Given the description of an element on the screen output the (x, y) to click on. 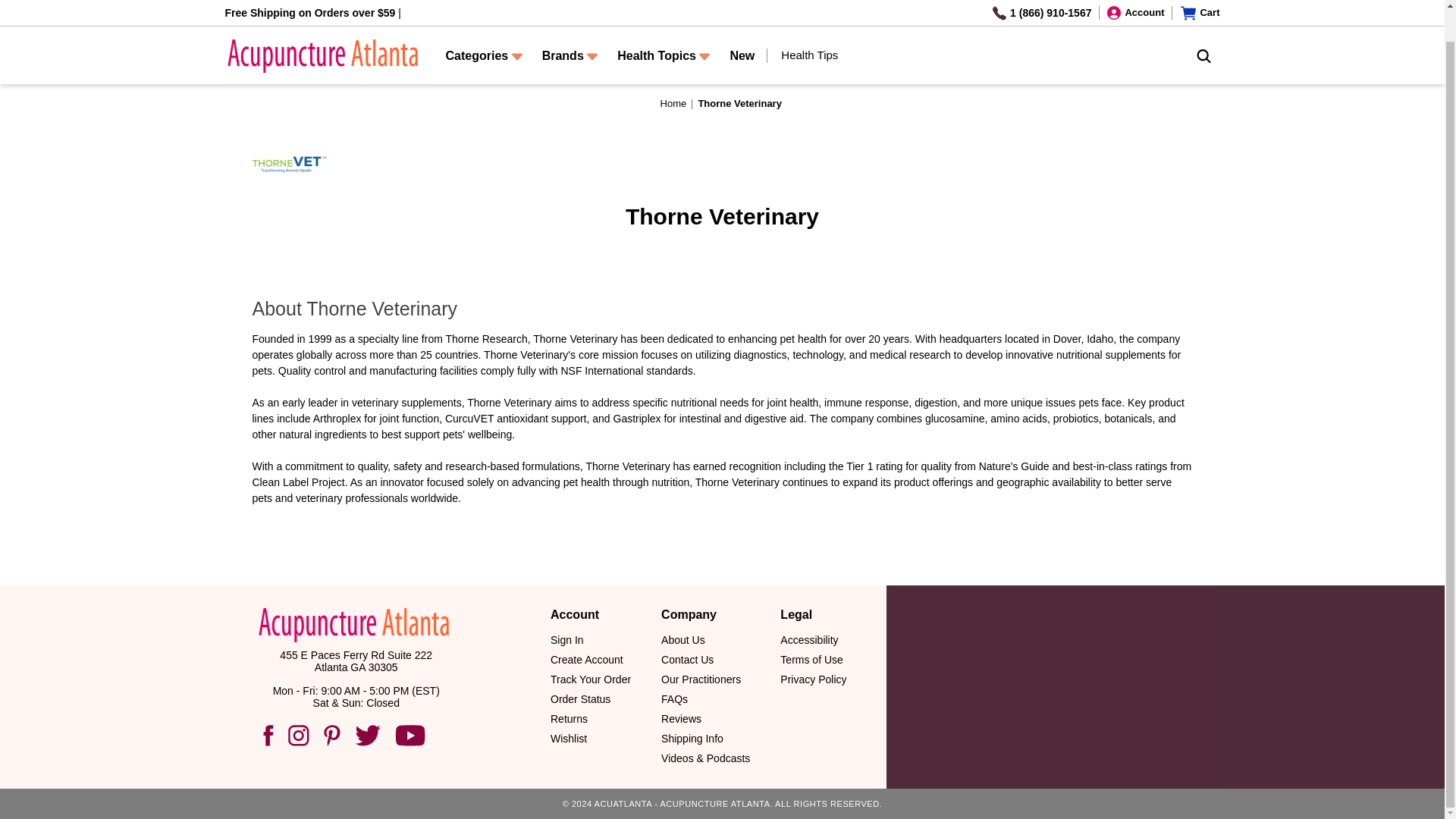
Acupuncture Atlanta (320, 23)
Thorne Veterinary (289, 164)
Categories (483, 25)
